Given the description of an element on the screen output the (x, y) to click on. 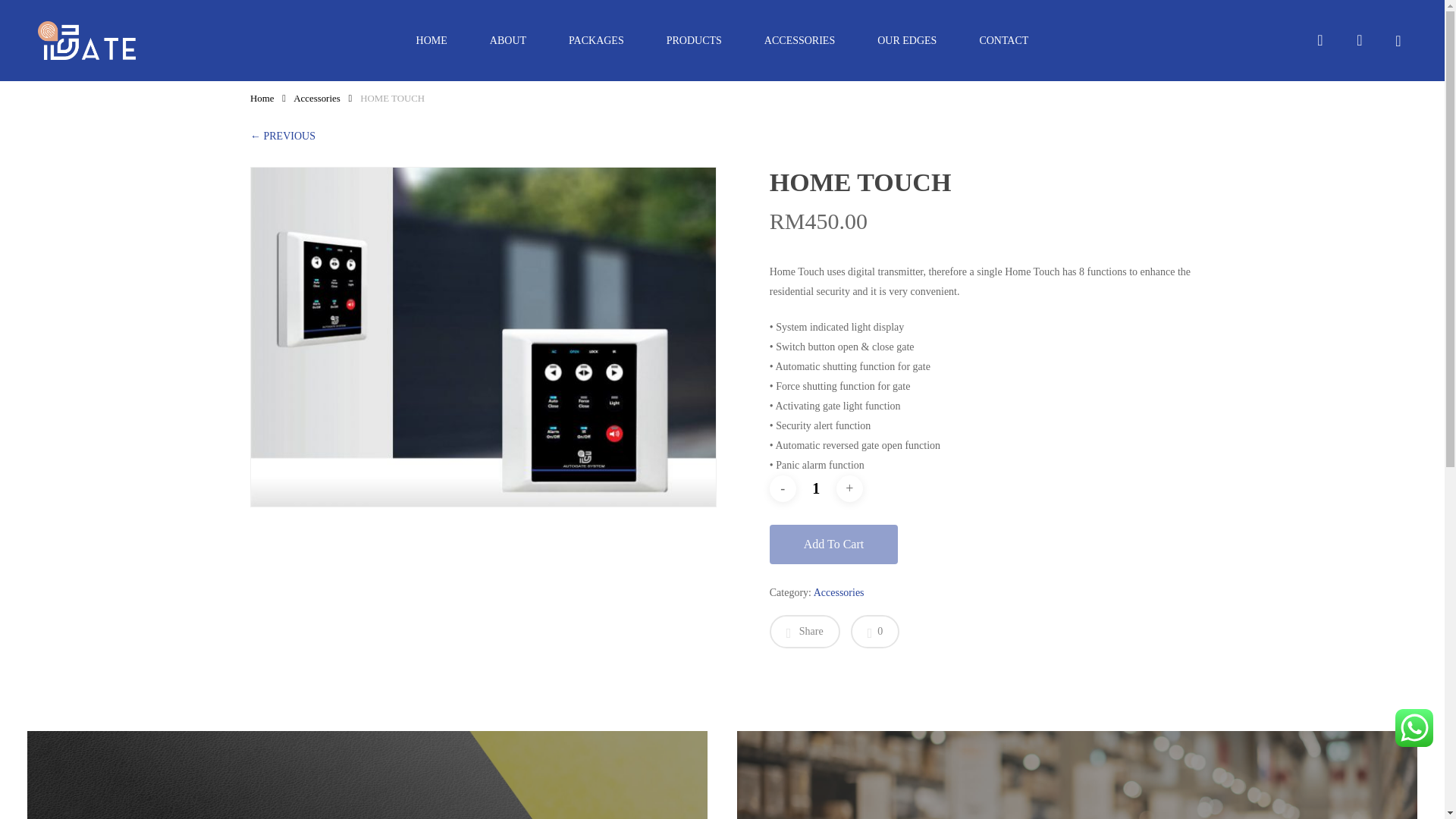
Accessories (838, 592)
Add To Cart (834, 544)
HOME (431, 40)
Accessories (317, 98)
1 (814, 488)
PRODUCTS (693, 40)
Qty (814, 488)
ABOUT (507, 40)
CONTACT (1003, 40)
account (1359, 40)
Love this (874, 631)
OUR EDGES (907, 40)
ACCESSORIES (799, 40)
- (783, 488)
Home (261, 98)
